Given the description of an element on the screen output the (x, y) to click on. 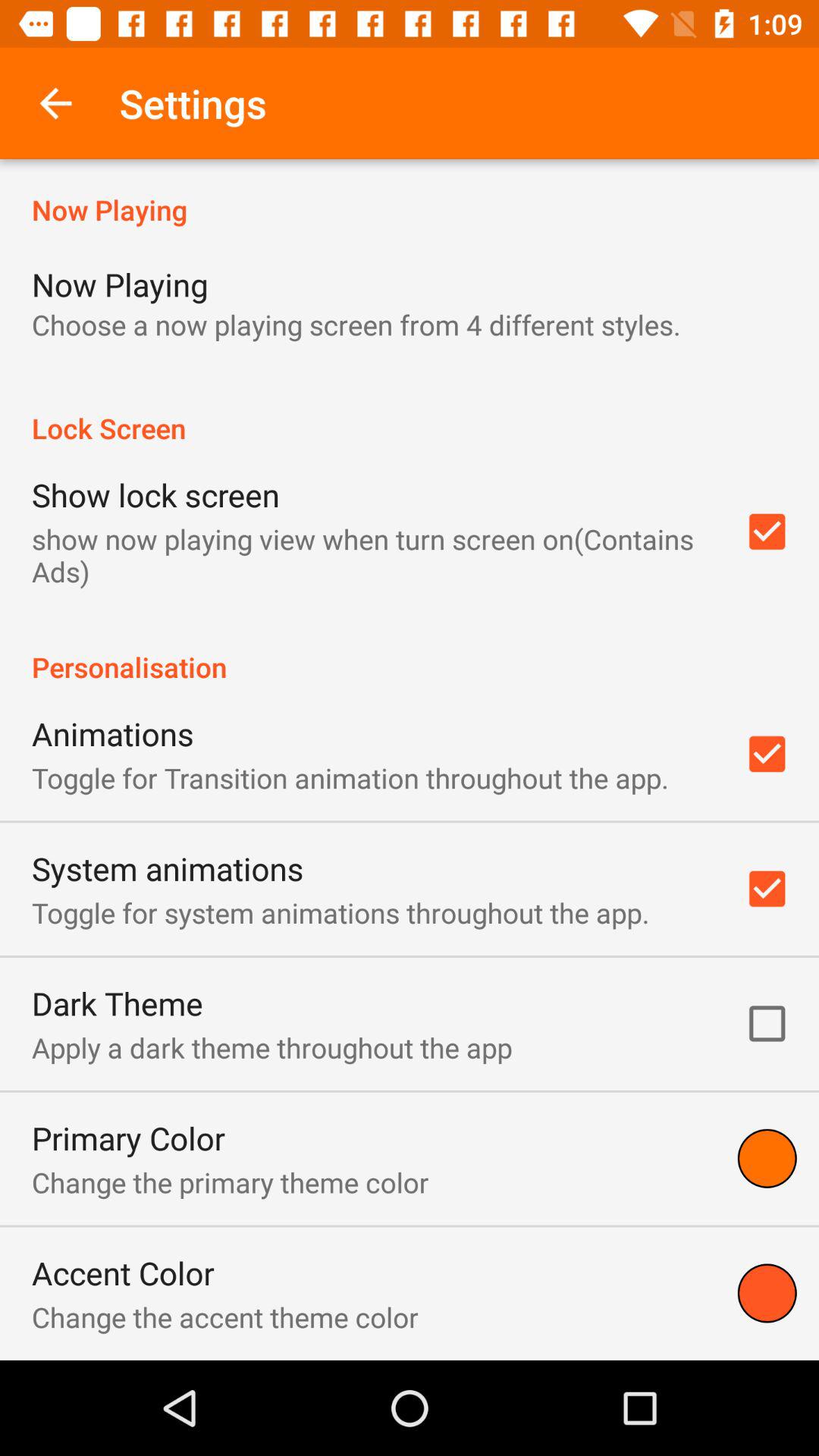
open personalisation item (409, 650)
